Given the description of an element on the screen output the (x, y) to click on. 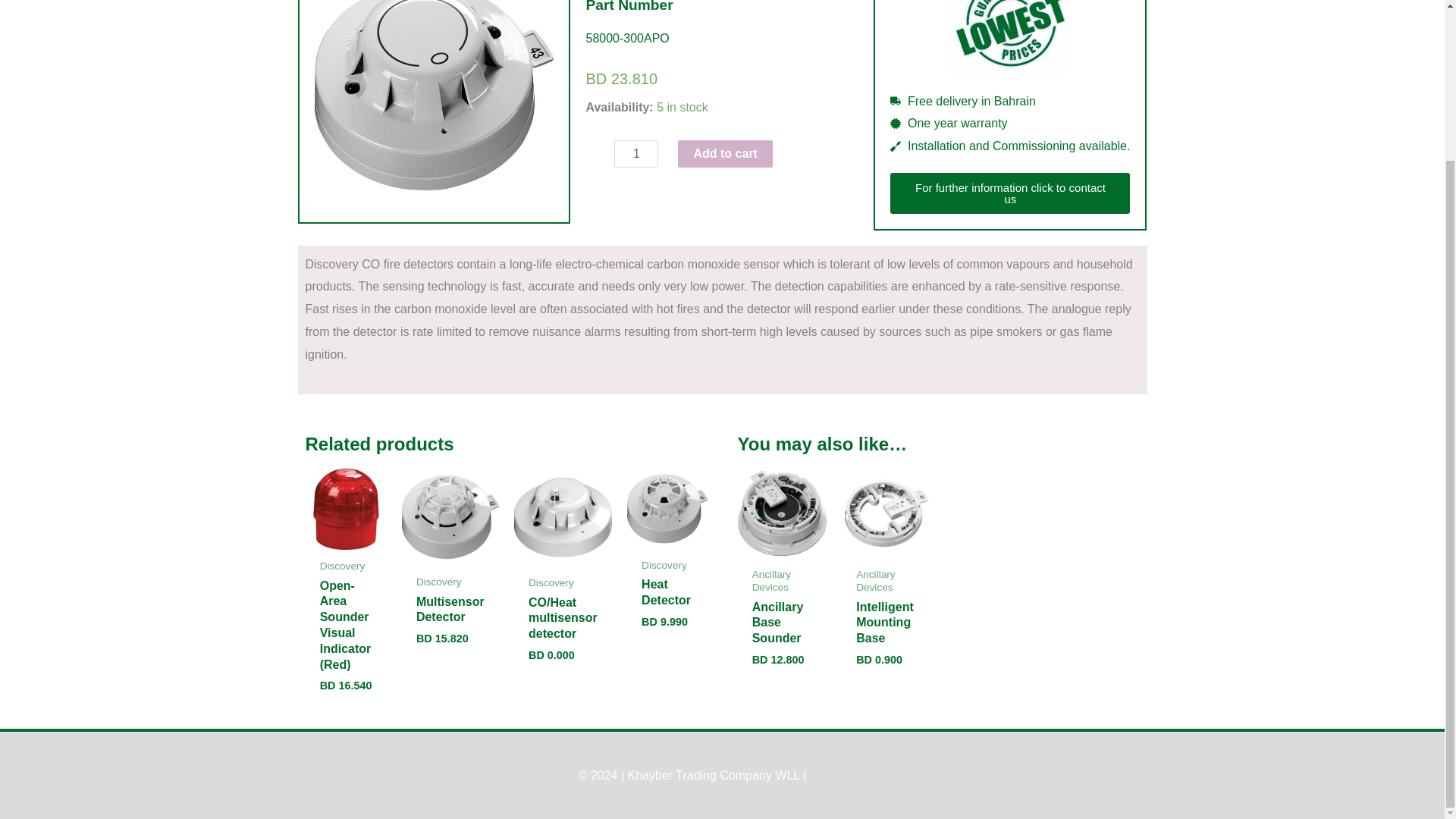
1 (636, 153)
For further information click to contact us (1009, 192)
Add to cart (724, 153)
